Given the description of an element on the screen output the (x, y) to click on. 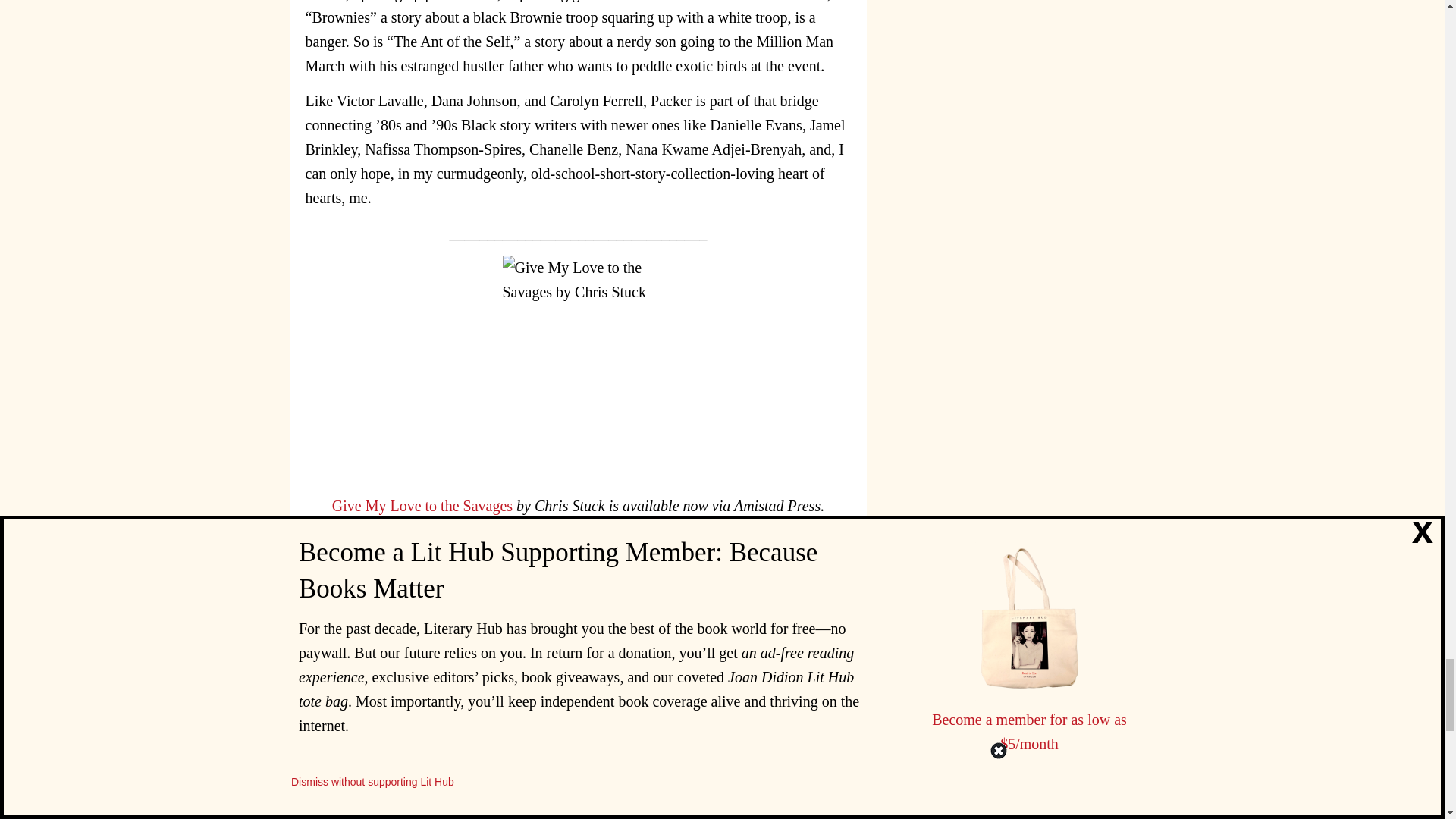
Share on Facebook (712, 689)
Click to share on Twitter (742, 689)
